Given the description of an element on the screen output the (x, y) to click on. 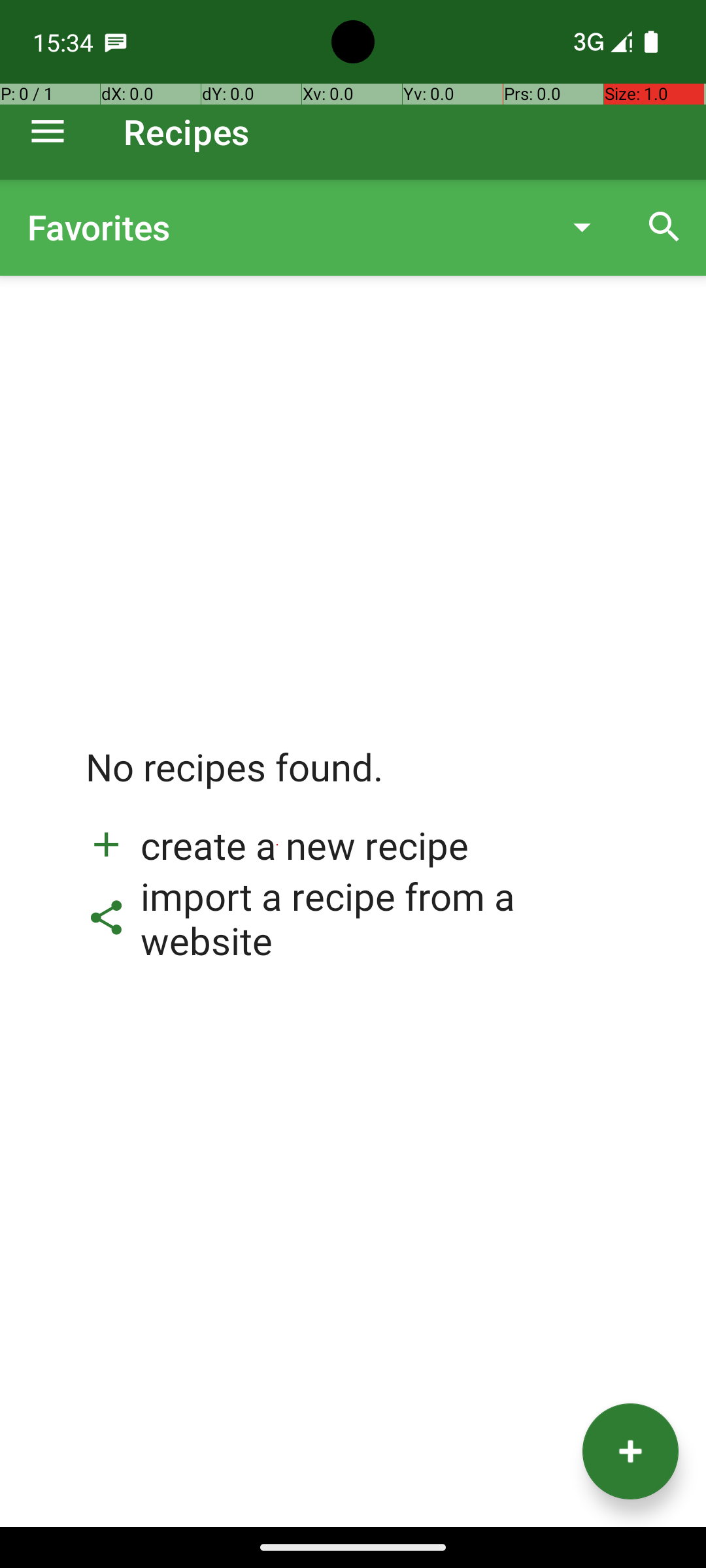
No recipes found. Element type: android.widget.TextView (234, 779)
create a new recipe Element type: android.widget.TextView (276, 844)
import a recipe from a website Element type: android.widget.TextView (352, 917)
